Given the description of an element on the screen output the (x, y) to click on. 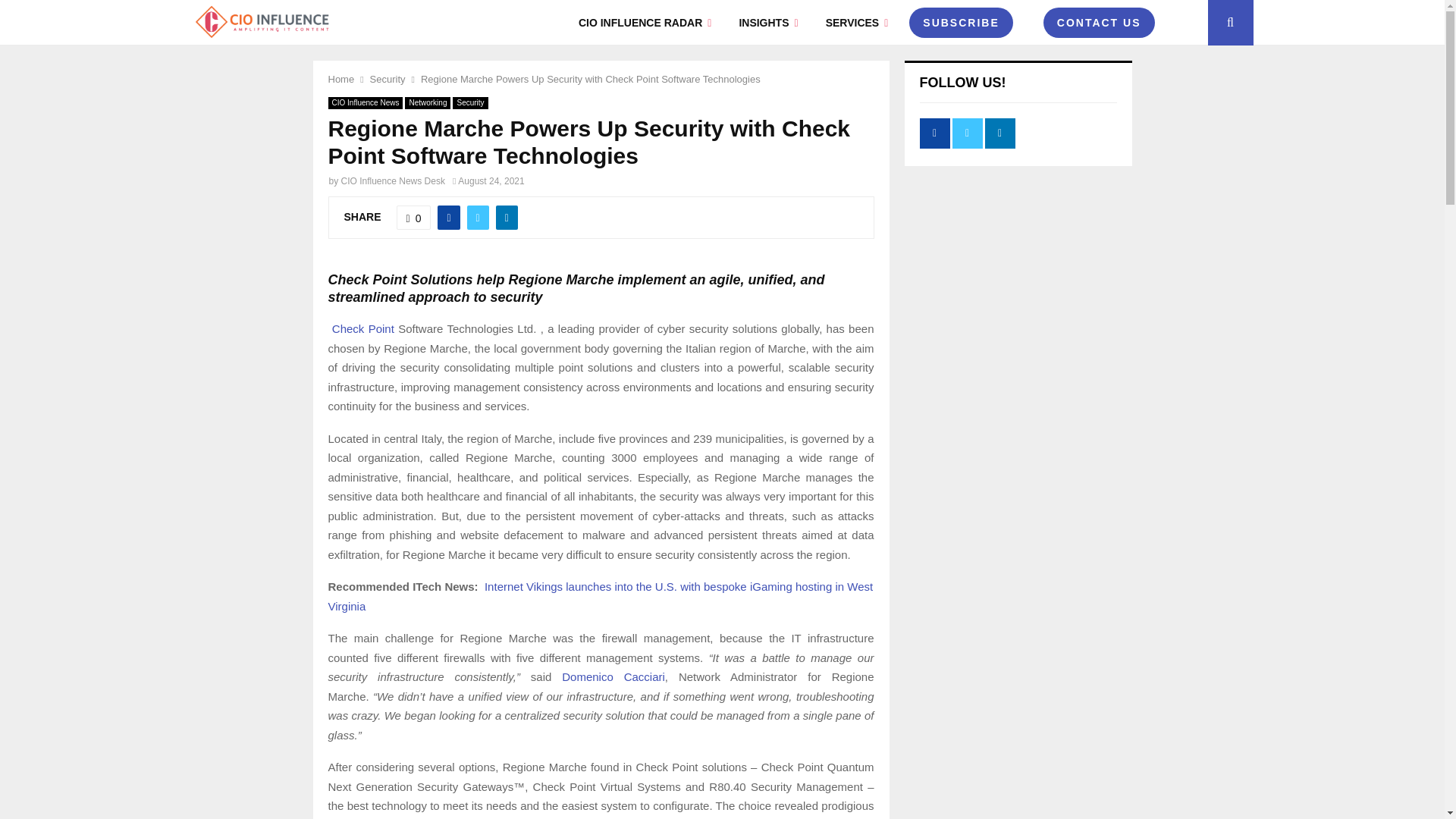
Like (413, 217)
CIO INFLUENCE RADAR (644, 22)
